Given the description of an element on the screen output the (x, y) to click on. 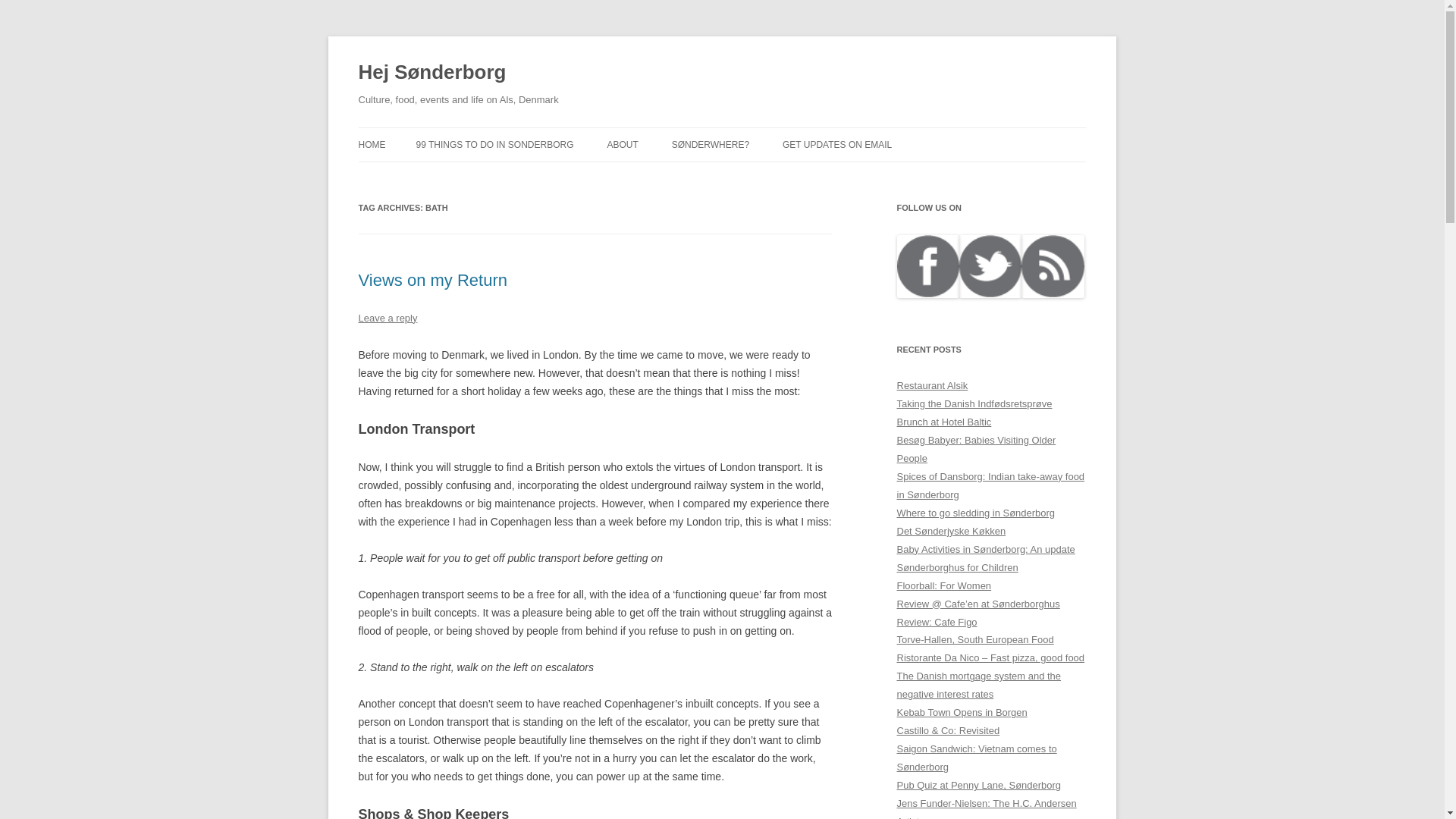
Brunch at Hotel Baltic (943, 421)
Views on my Return (432, 280)
Follow Hej Sonderborg on Twitter (990, 294)
Restaurant Alsik (932, 385)
Follow Hej Sonderborg on Twitter (1052, 294)
99 THINGS TO DO IN SONDERBORG (493, 144)
Leave a reply (387, 317)
ABOUT US (682, 176)
ABOUT (622, 144)
GET UPDATES ON EMAIL (837, 144)
Follow Hej Sonderborg on Facebook (927, 294)
